Given the description of an element on the screen output the (x, y) to click on. 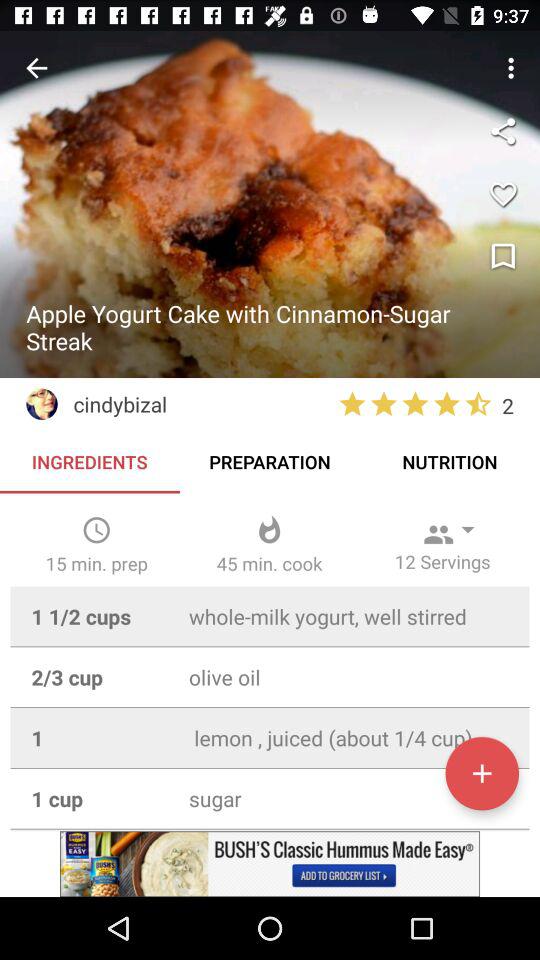
add bookmark (503, 257)
